Given the description of an element on the screen output the (x, y) to click on. 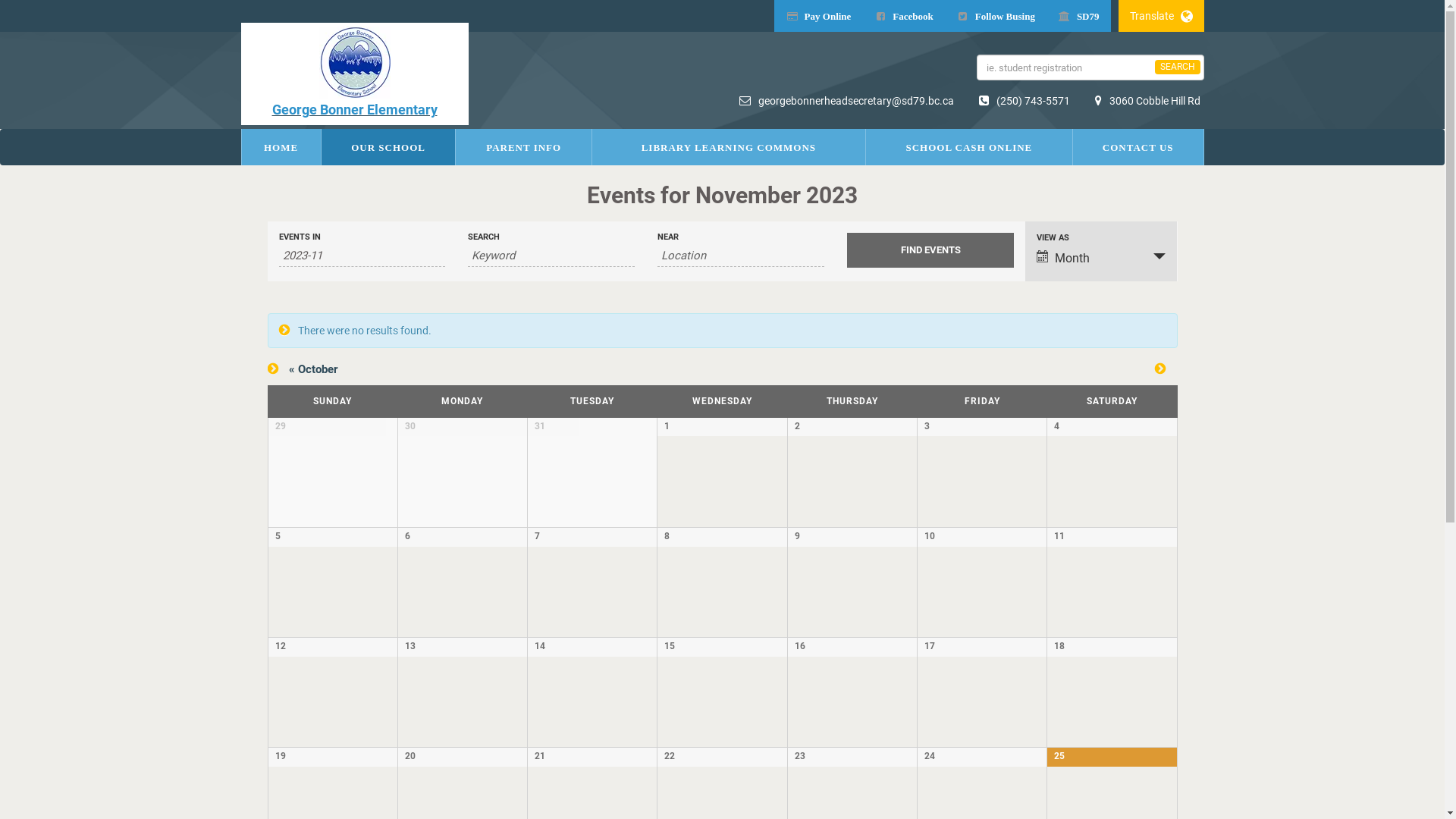
Pay Online Element type: text (818, 15)
LIBRARY LEARNING COMMONS Element type: text (728, 146)
Find Events Element type: text (930, 249)
Follow Busing Element type: text (995, 15)
Month Element type: text (1100, 257)
PARENT INFO Element type: text (522, 146)
SEARCH Element type: text (1176, 66)
HOME Element type: text (280, 146)
CONTACT US Element type: text (1138, 146)
Facebook Element type: text (903, 15)
SD79 Element type: text (1078, 15)
OUR SCHOOL Element type: text (388, 146)
George Bonner Elementary Element type: text (354, 73)
SCHOOL CASH ONLINE Element type: text (969, 146)
Translate   Element type: text (1160, 15)
